Given the description of an element on the screen output the (x, y) to click on. 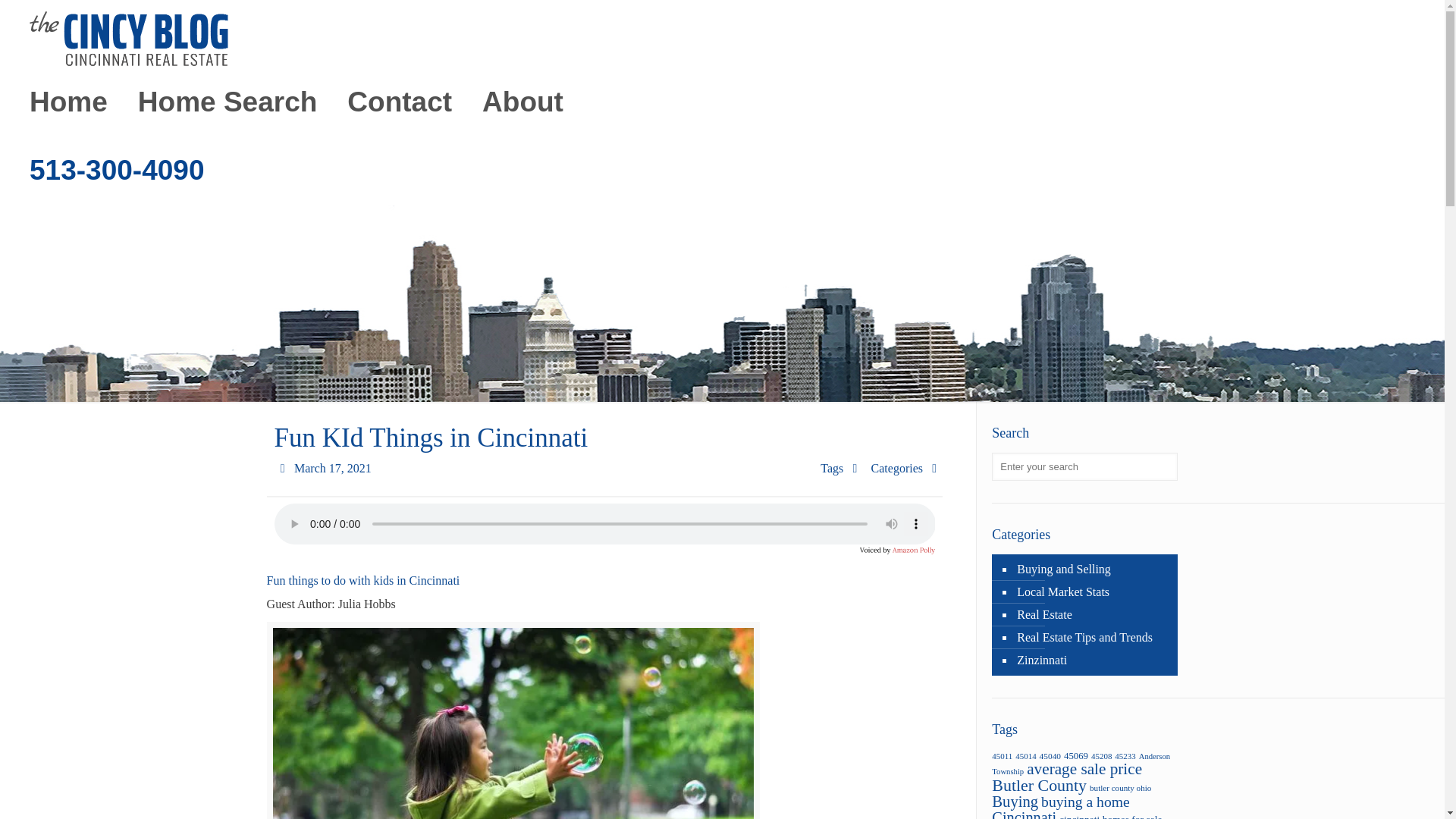
Home Search (227, 101)
Contact (399, 101)
Buying and Selling (1091, 568)
Local Market Stats (1091, 591)
Home (68, 101)
513-300-4090 (116, 170)
Real Estate (1091, 614)
Real Estate Tips and Trends (1091, 637)
About (522, 101)
